Given the description of an element on the screen output the (x, y) to click on. 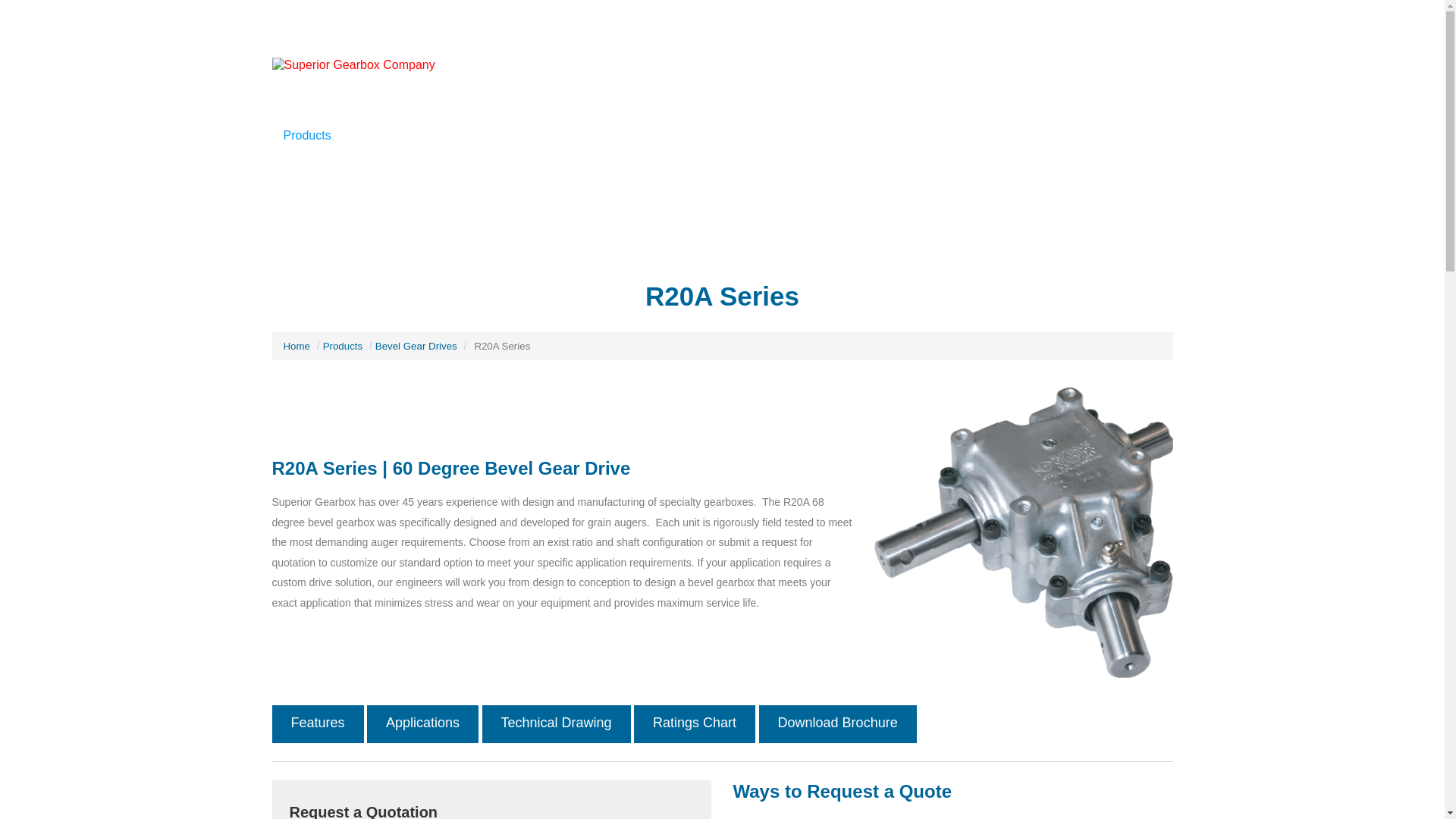
Features (316, 724)
Contact Us (995, 135)
Resources (1134, 135)
Manuals (762, 135)
Employment (687, 135)
Technical Drawing (555, 724)
Products (307, 135)
3D CAD (1066, 135)
Home (296, 346)
